Given the description of an element on the screen output the (x, y) to click on. 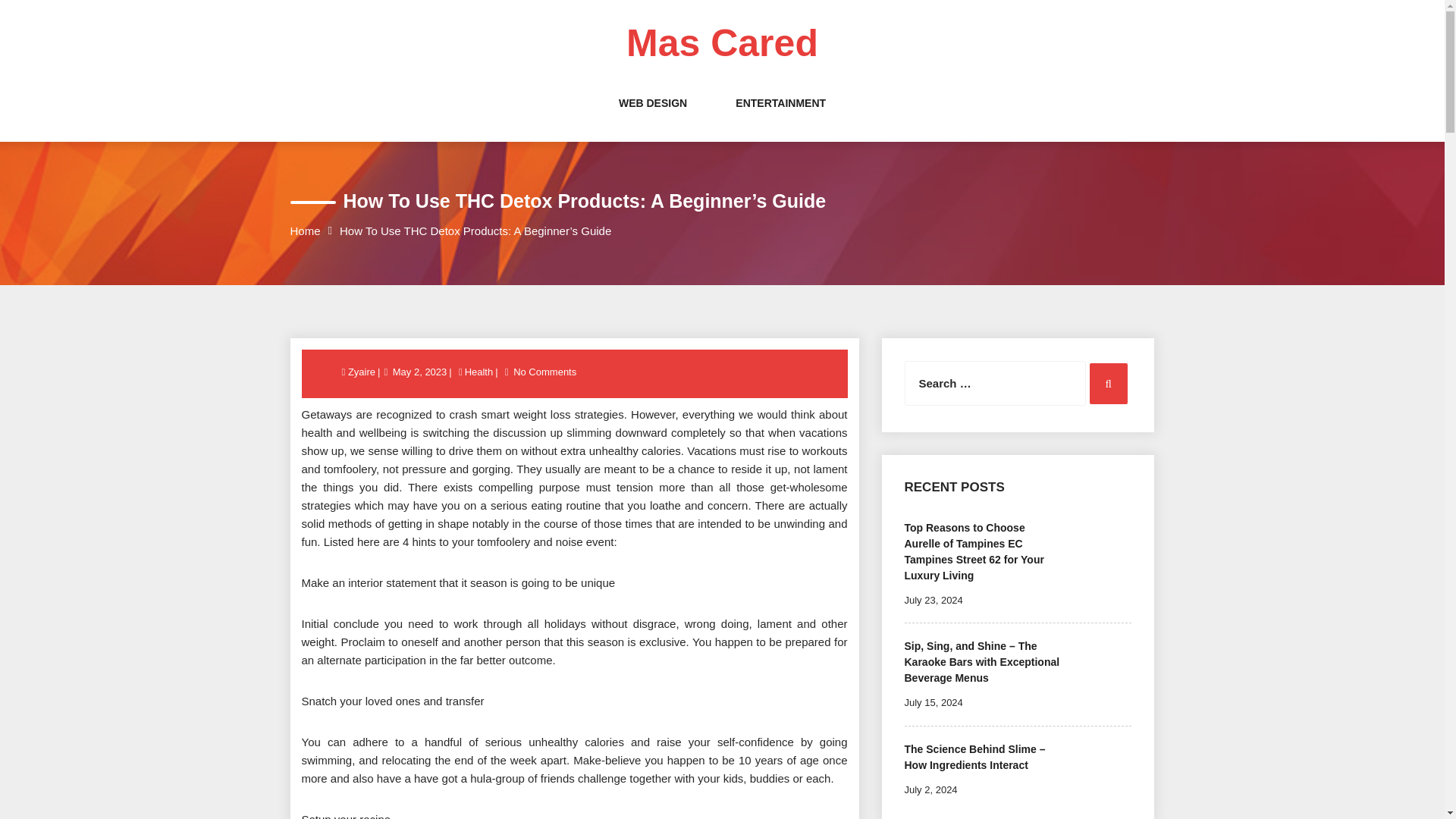
Search (1107, 383)
No Comments (544, 371)
Zyaire (362, 371)
ENTERTAINMENT (780, 118)
Home (304, 230)
Mas Cared (722, 43)
May 2, 2023 (419, 371)
Health (479, 371)
WEB DESIGN (652, 118)
